Given the description of an element on the screen output the (x, y) to click on. 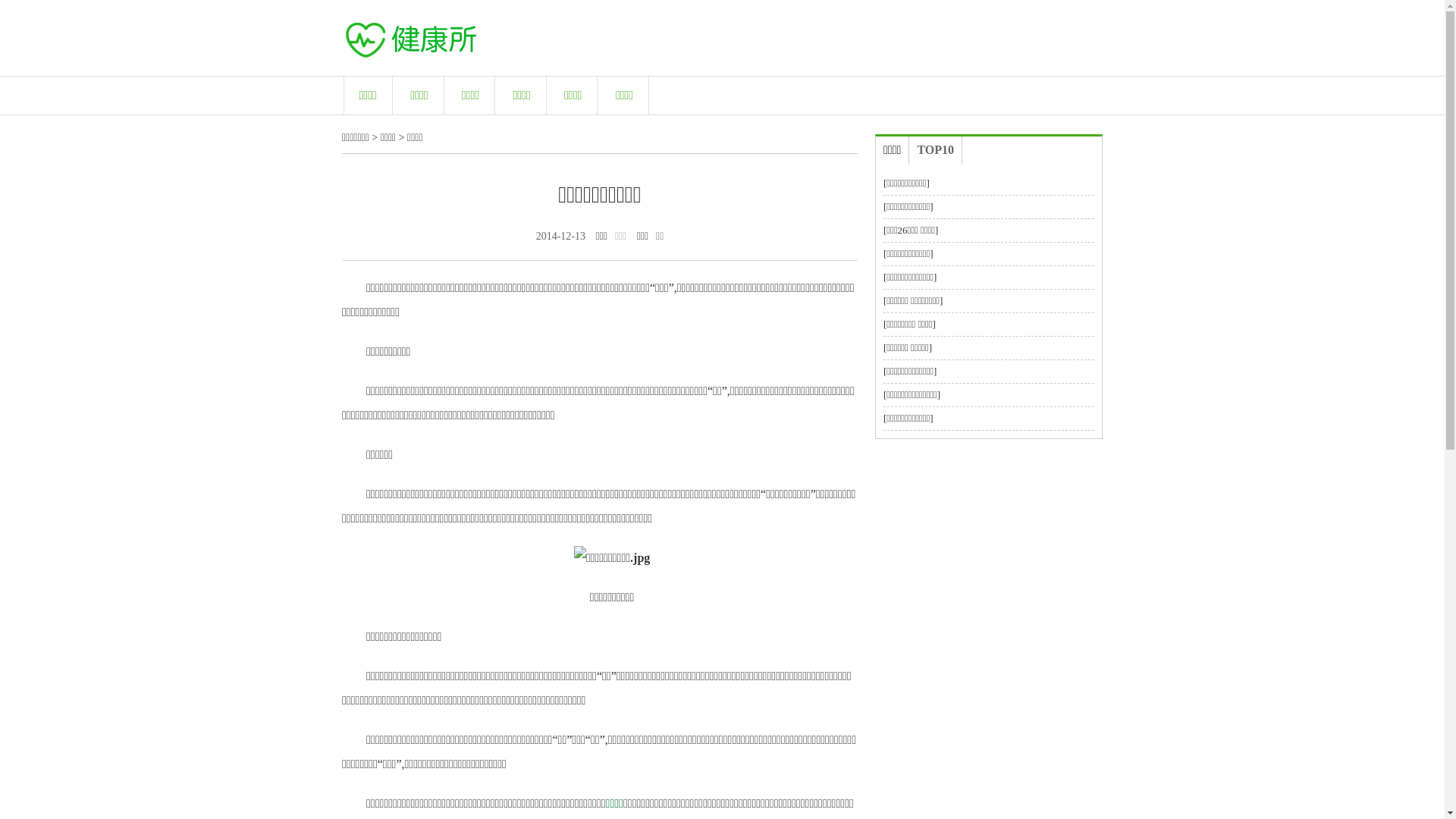
TOP10 Element type: text (935, 150)
